Given the description of an element on the screen output the (x, y) to click on. 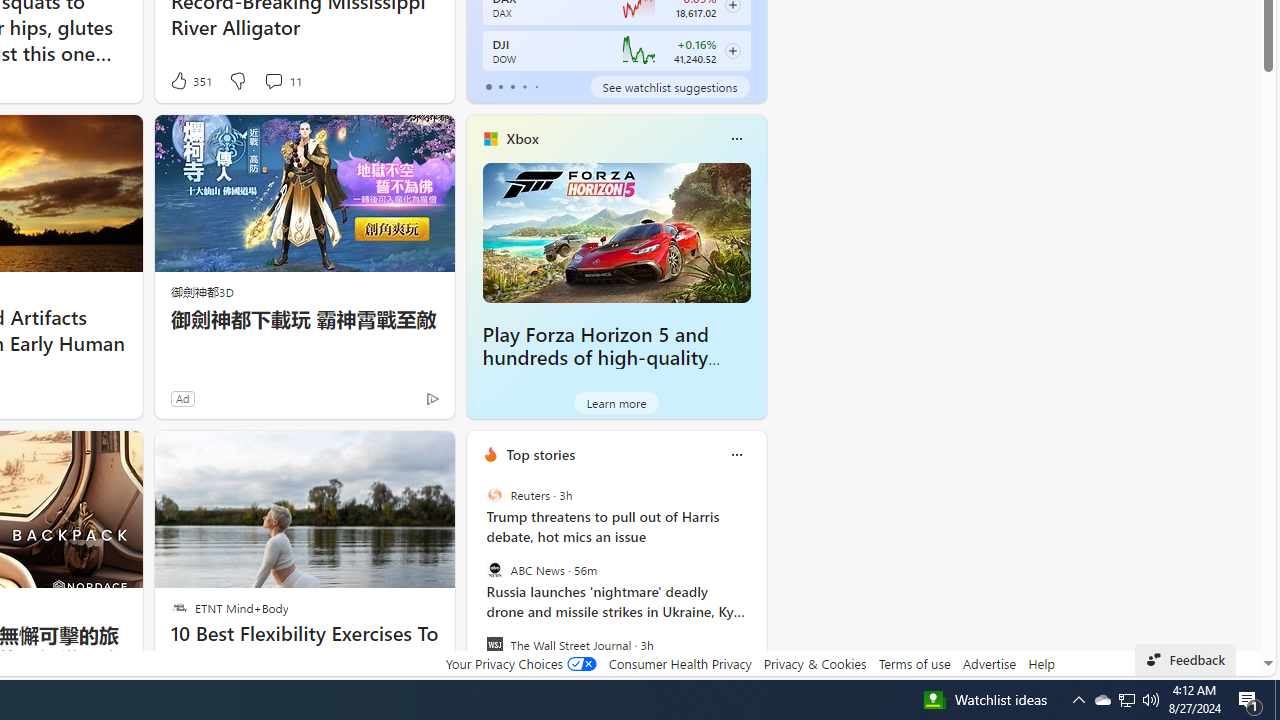
View comments 11 Comment (281, 80)
tab-2 (511, 86)
Class: follow-button  m (732, 51)
Hide this story (393, 454)
tab-1 (500, 86)
